Given the description of an element on the screen output the (x, y) to click on. 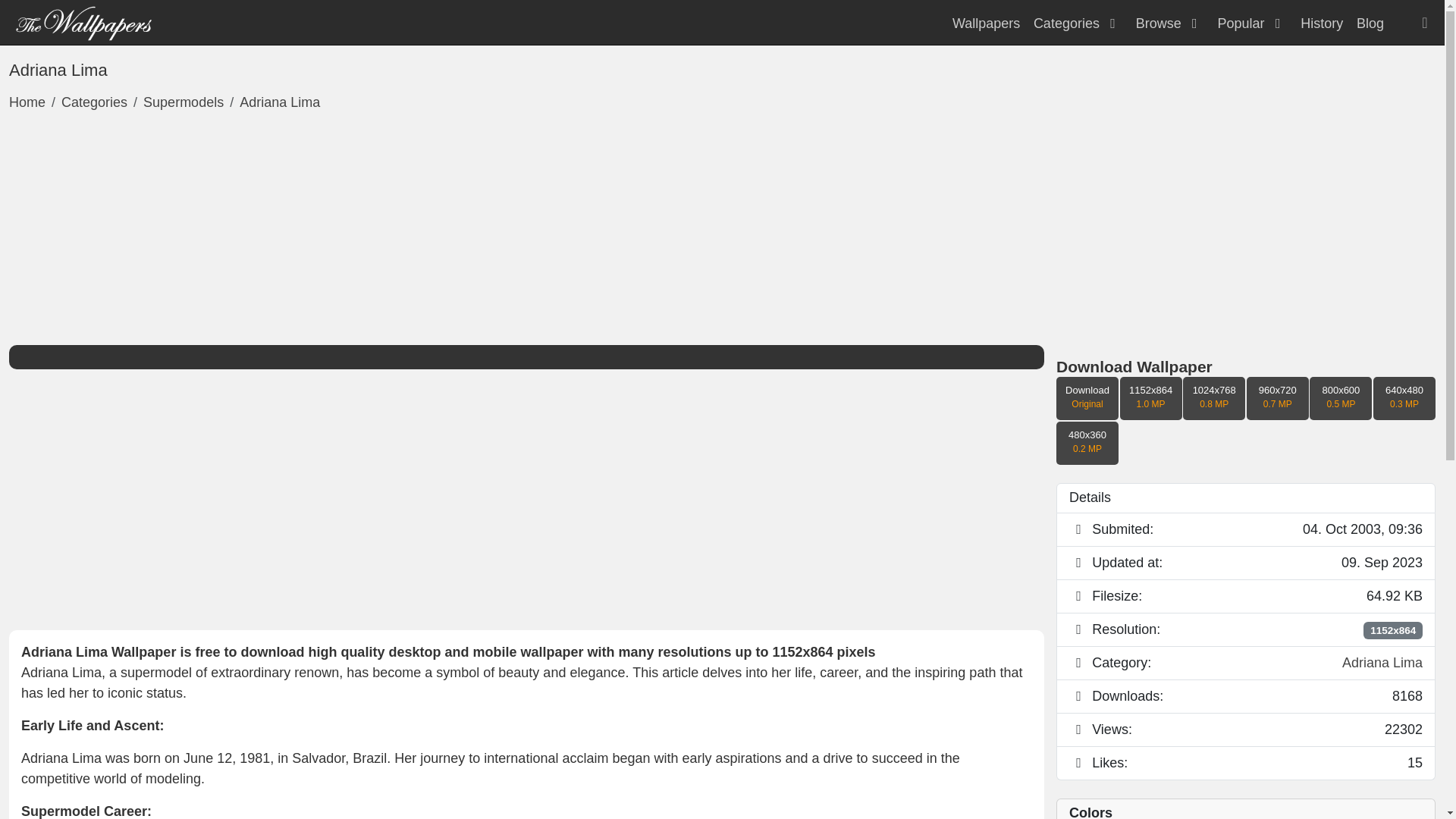
Wallpapers (83, 21)
Wallpapers (986, 23)
Wallpapers (986, 23)
